Given the description of an element on the screen output the (x, y) to click on. 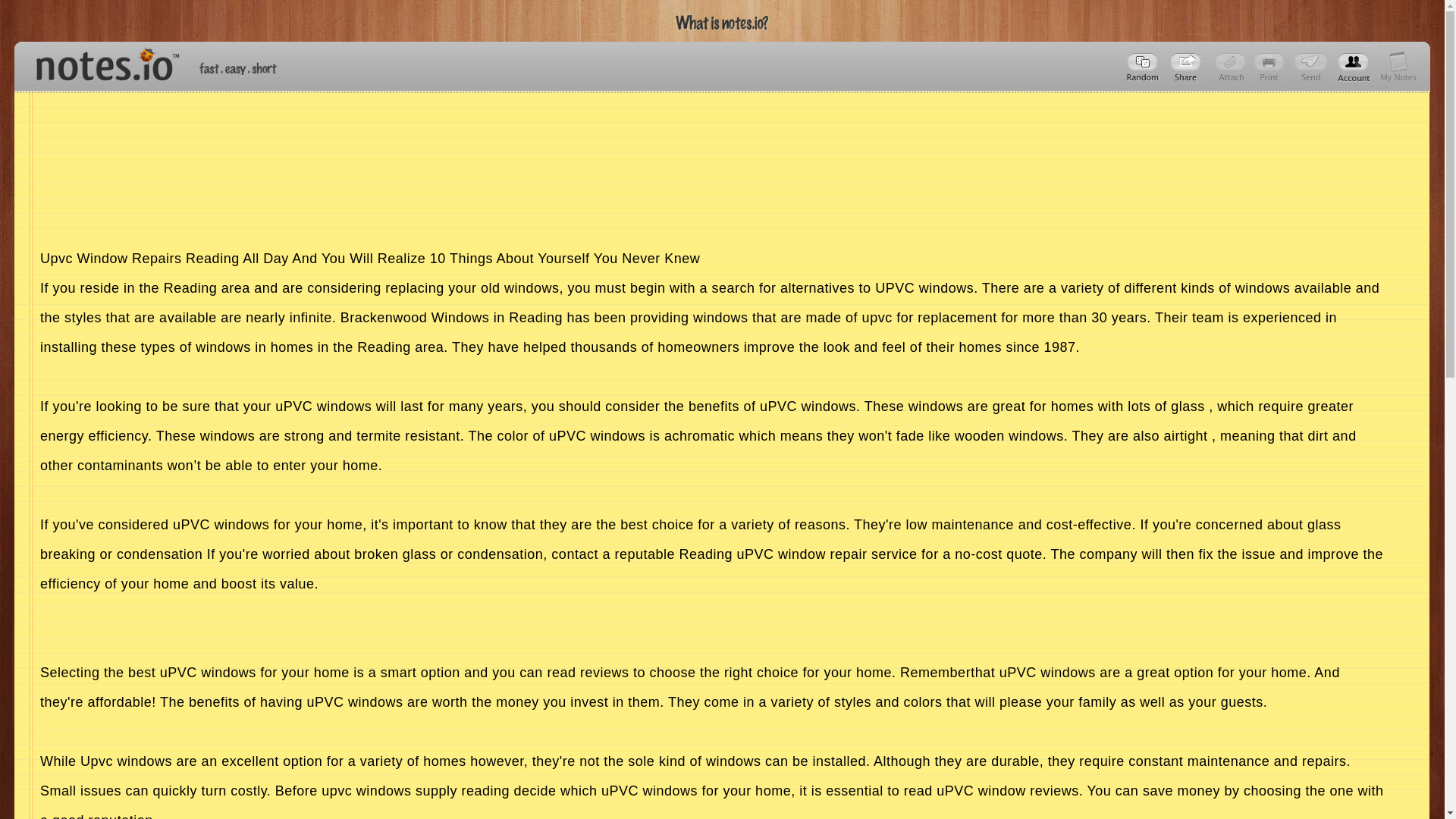
Coming soon (1270, 67)
what is notes.io? (721, 22)
TqnW (1187, 67)
Account (1398, 67)
Popular notes (1143, 67)
Account (1353, 67)
Fast, easy and short (237, 68)
notes (100, 61)
